Given the description of an element on the screen output the (x, y) to click on. 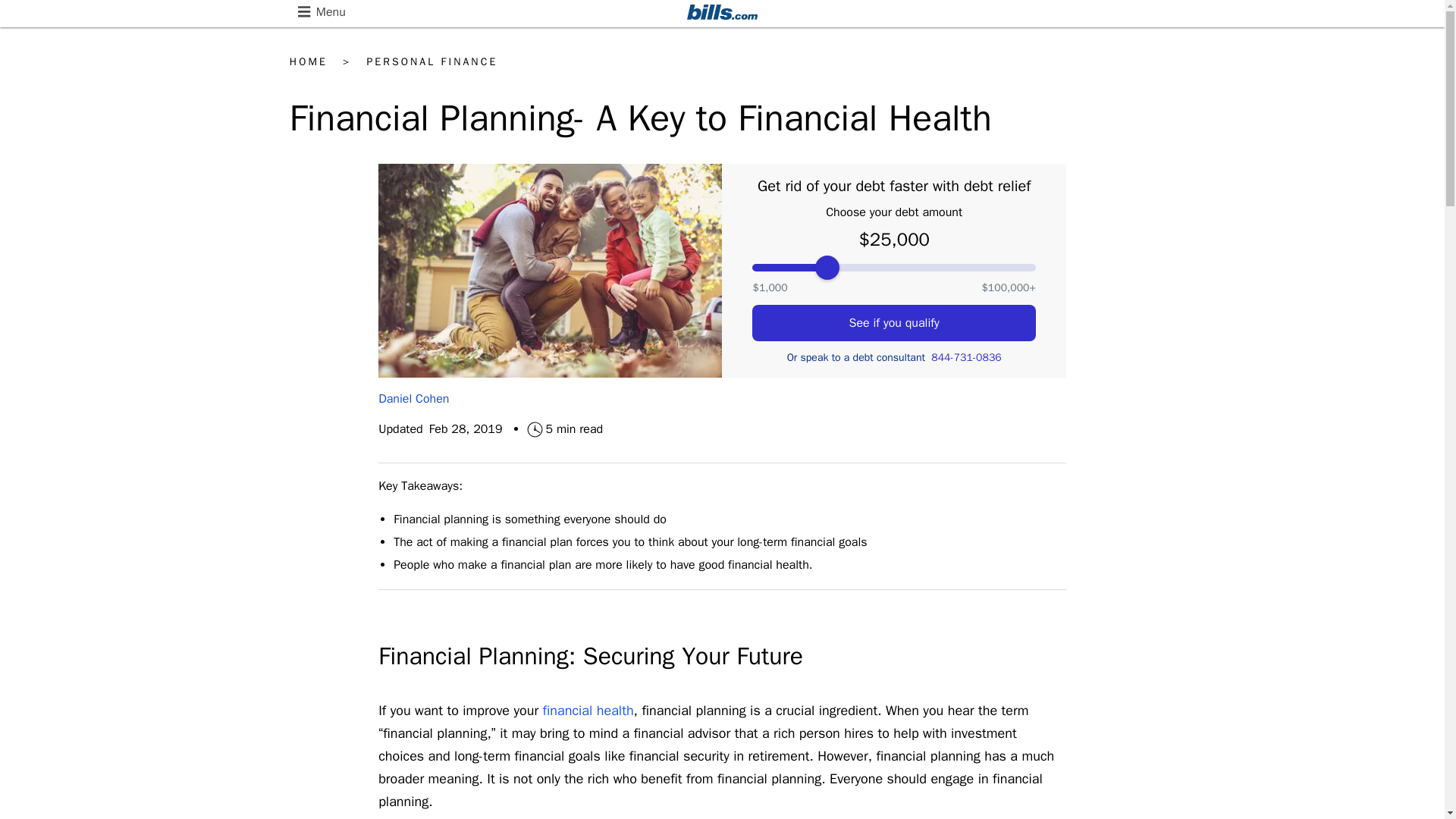
25000 (893, 267)
